Given the description of an element on the screen output the (x, y) to click on. 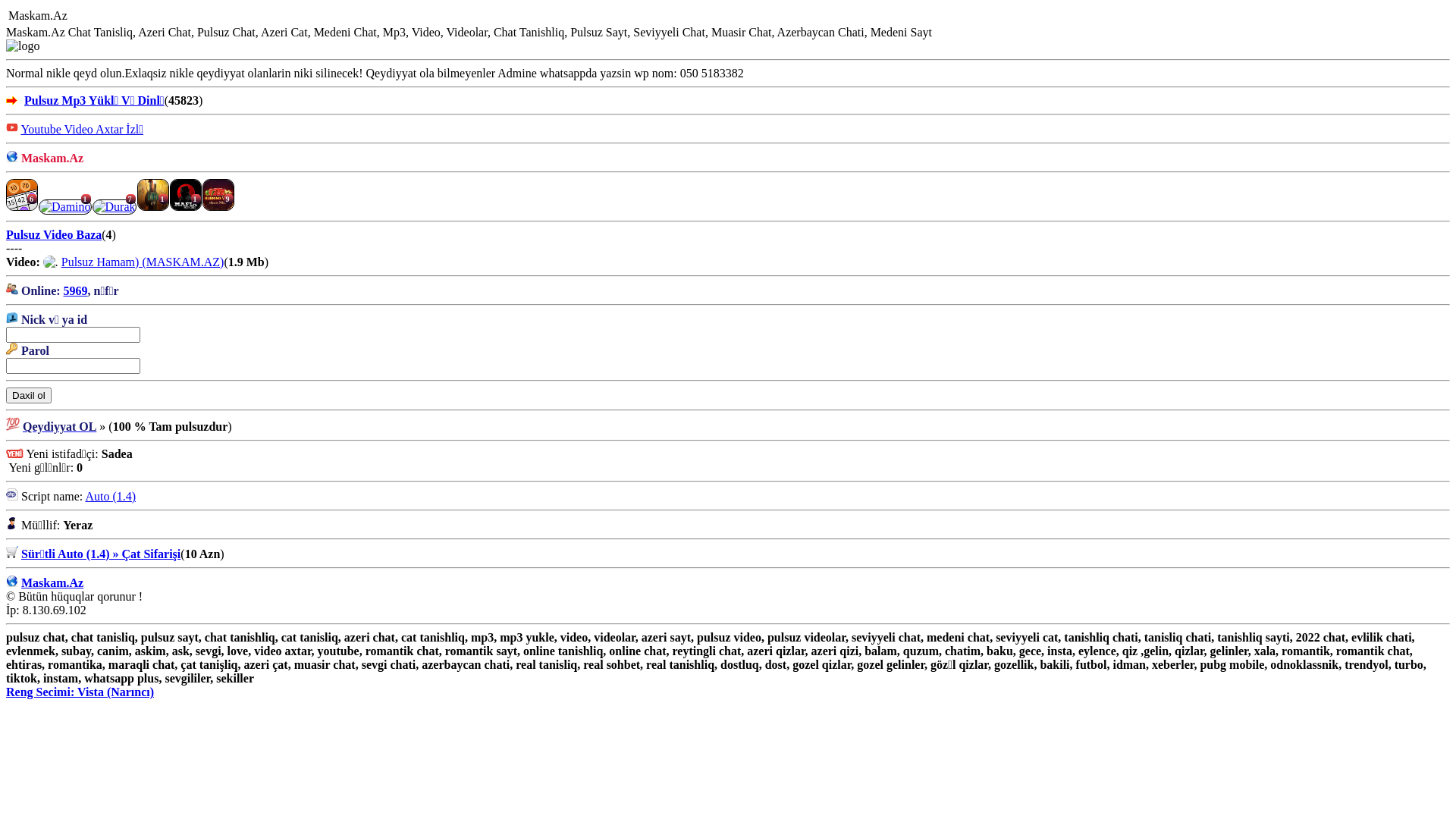
Qonaqlar Element type: hover (122, 15)
Bildirisler Element type: hover (106, 15)
nick Element type: hover (73, 334)
5969 Element type: text (75, 290)
Mesajlar Element type: hover (91, 15)
Qeydiyyat OL Element type: text (59, 426)
Parol Element type: hover (73, 365)
Qeydiyyat Element type: hover (137, 15)
Maskam.Az Element type: text (52, 582)
Auto (1.4) Element type: text (109, 495)
Pulsuz Hamam) (MASKAM.AZ) Element type: text (142, 261)
Daxil ol Element type: text (28, 395)
Pulsuz Video Baza Element type: text (53, 234)
